Given the description of an element on the screen output the (x, y) to click on. 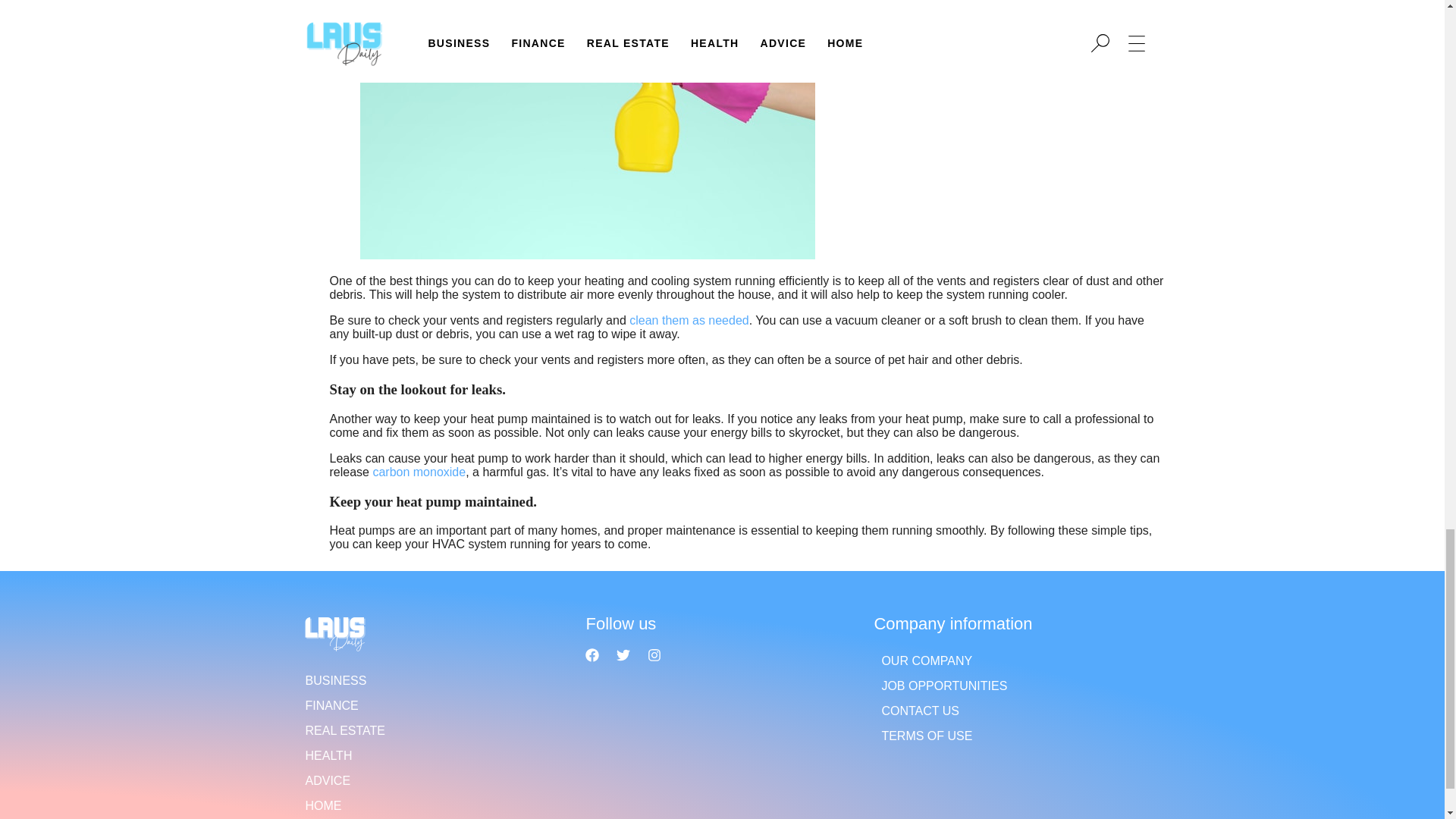
FINANCE (433, 705)
HEALTH (433, 755)
carbon monoxide (418, 472)
REAL ESTATE (433, 730)
BUSINESS (433, 680)
clean them as needed (688, 319)
